Given the description of an element on the screen output the (x, y) to click on. 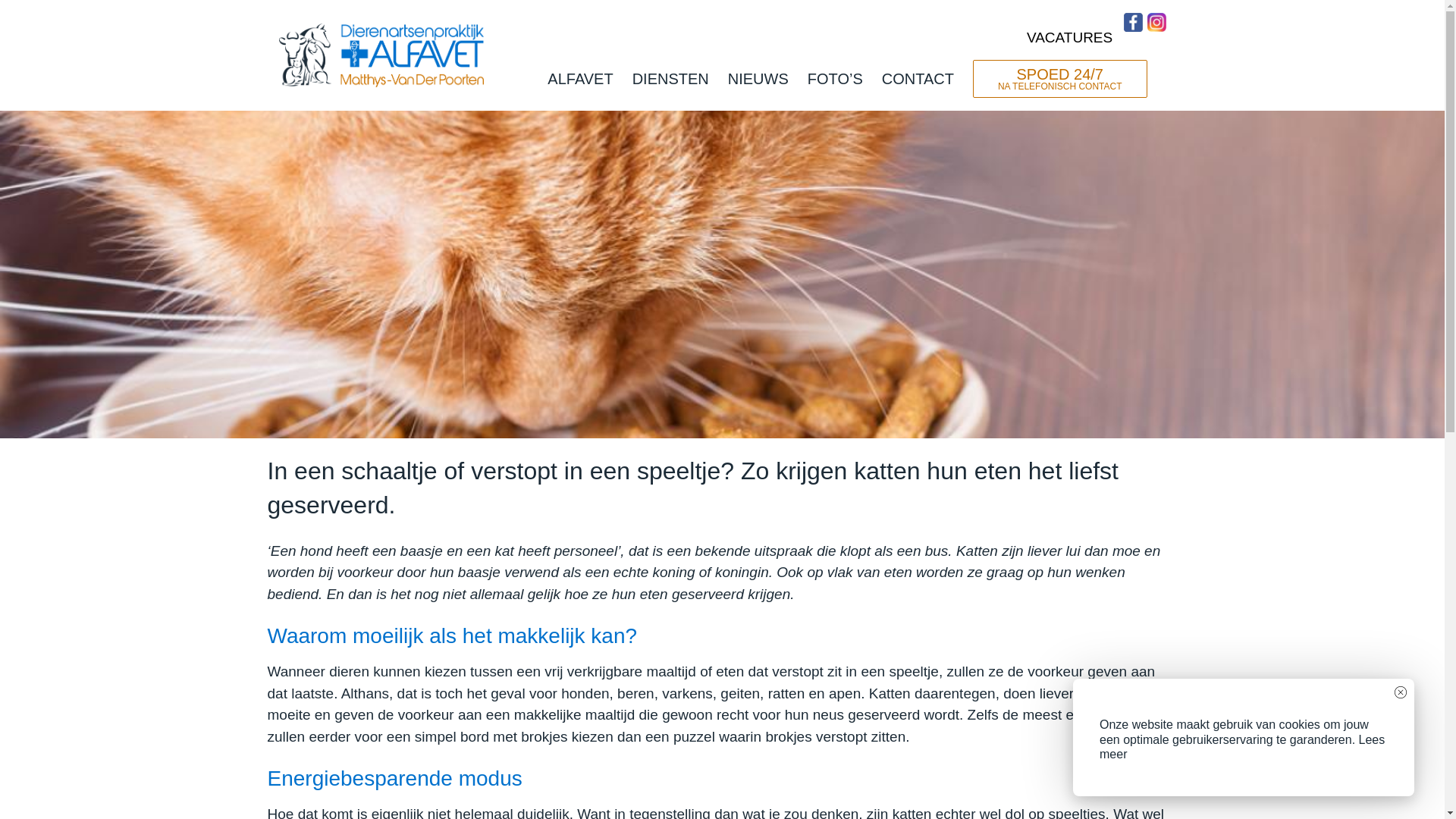
VACATURES Element type: text (1069, 37)
NIEUWS Element type: text (758, 78)
Lees meer Element type: text (1241, 746)
CONTACT Element type: text (917, 78)
DIENSTEN Element type: text (670, 78)
ALFAVET Element type: text (579, 78)
SPOED 24/7
NA TELEFONISCH CONTACT Element type: text (1059, 78)
